Given the description of an element on the screen output the (x, y) to click on. 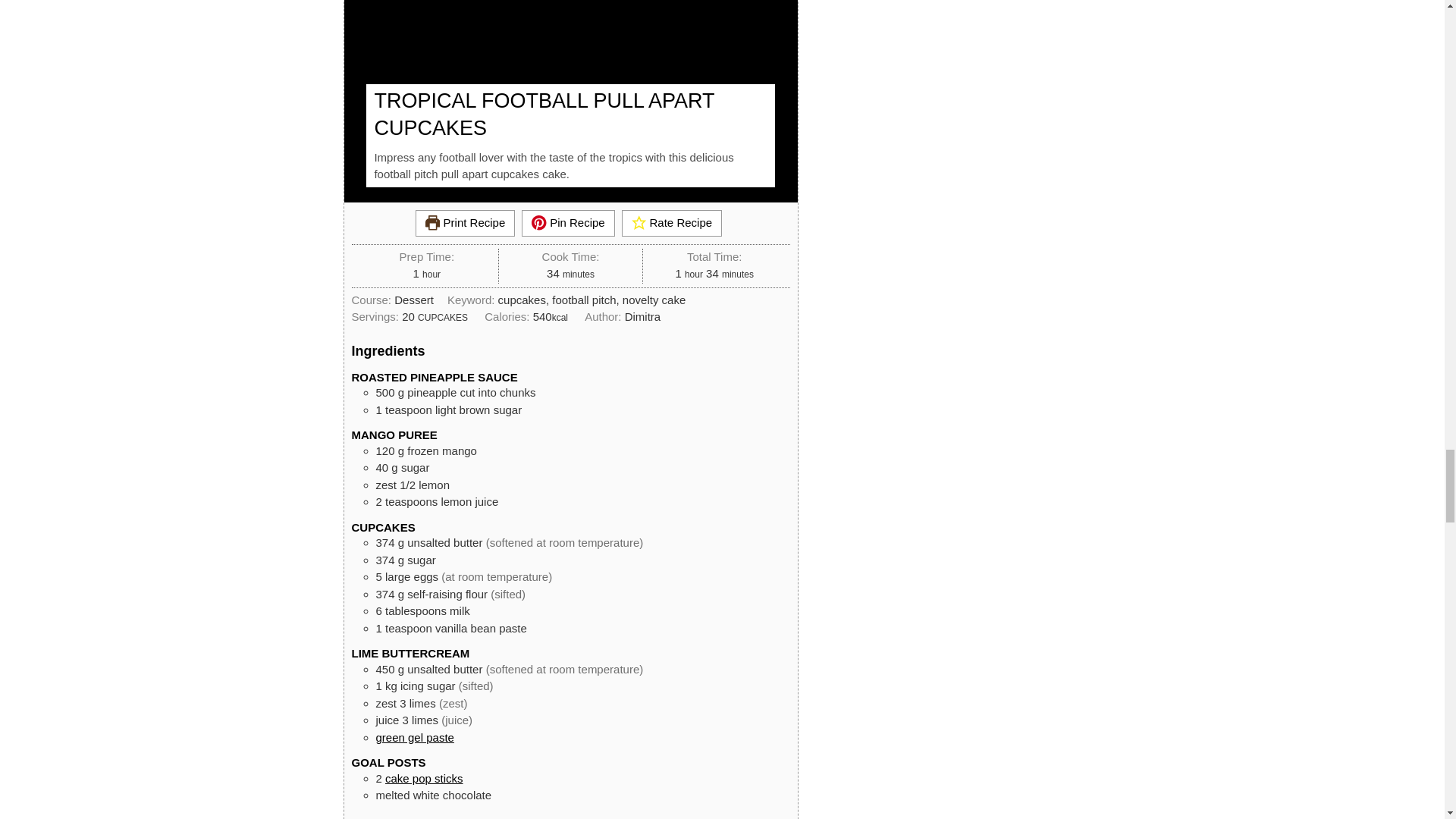
Print Recipe (464, 222)
Pin Recipe (567, 222)
green gel paste (414, 737)
cake pop sticks (424, 778)
Rate Recipe (671, 222)
